Given the description of an element on the screen output the (x, y) to click on. 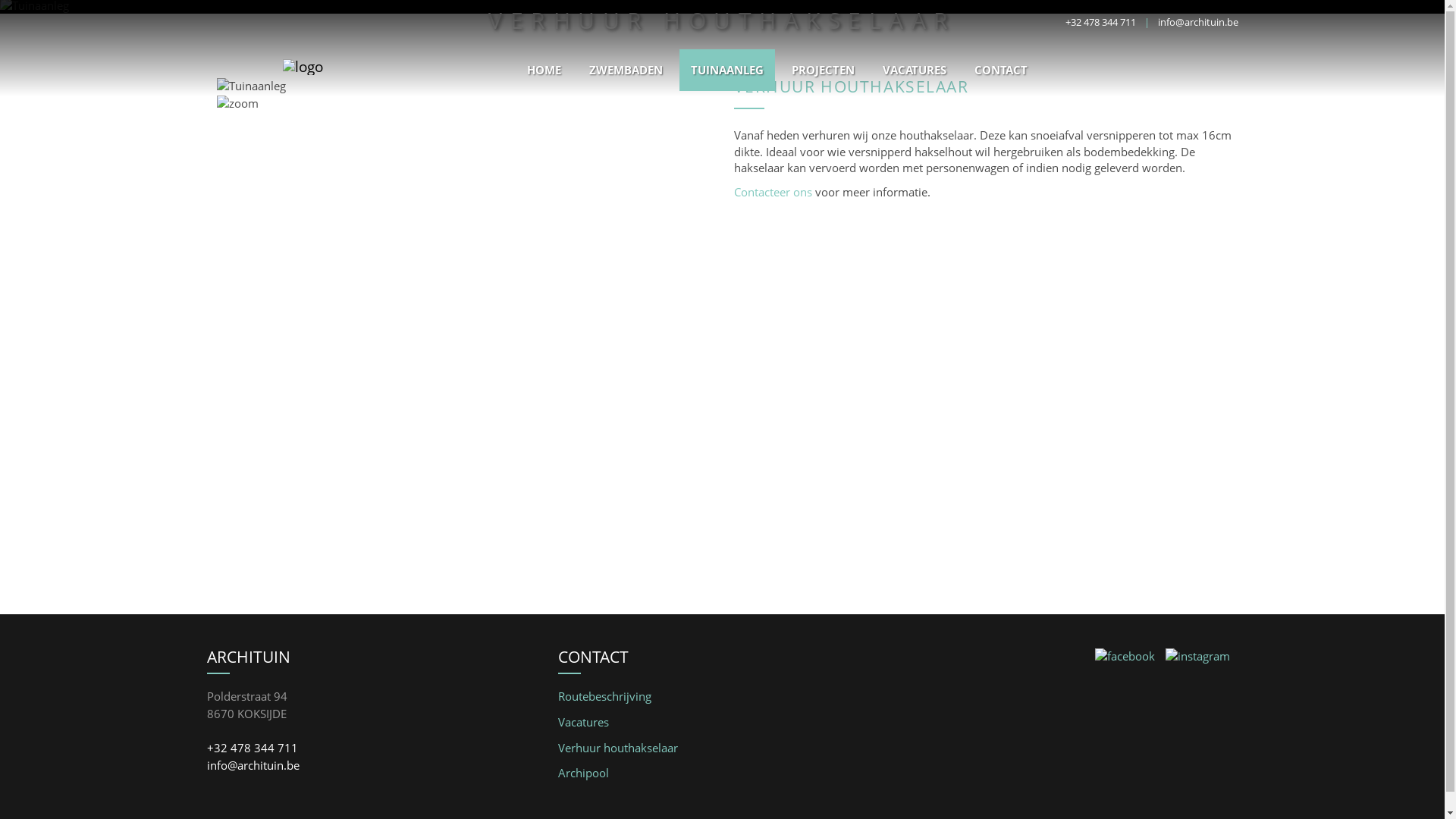
Verhuur houthakselaar Element type: text (617, 747)
Archipool Element type: text (583, 772)
PROJECTEN Element type: text (822, 70)
VACATURES Element type: text (913, 70)
info@archituin.be Element type: text (1197, 21)
+32 478 344 711 Element type: text (1099, 21)
ZWEMBADEN Element type: text (625, 70)
TUINAANLEG Element type: text (727, 70)
Vacatures Element type: text (583, 721)
Contacteer ons Element type: text (773, 191)
+32 478 344 711 Element type: text (251, 747)
HOME Element type: text (543, 70)
info@archituin.be Element type: text (252, 764)
Routebeschrijving Element type: text (604, 695)
CONTACT Element type: text (1000, 70)
